Given the description of an element on the screen output the (x, y) to click on. 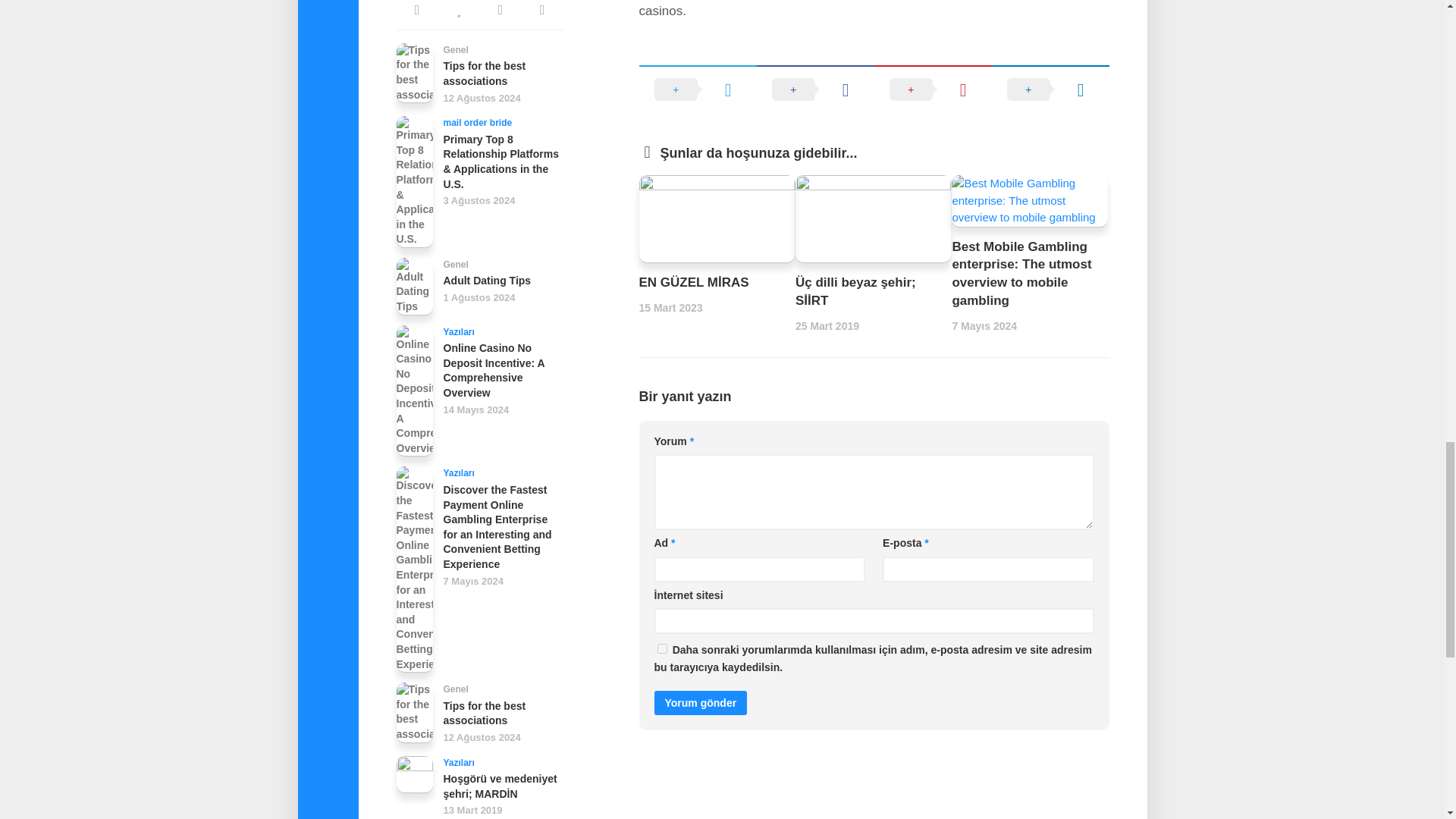
Share on Facebook (816, 89)
Share on X (697, 89)
yes (661, 648)
Share on LinkedIn (1050, 89)
Share on Pinterest (932, 89)
